Given the description of an element on the screen output the (x, y) to click on. 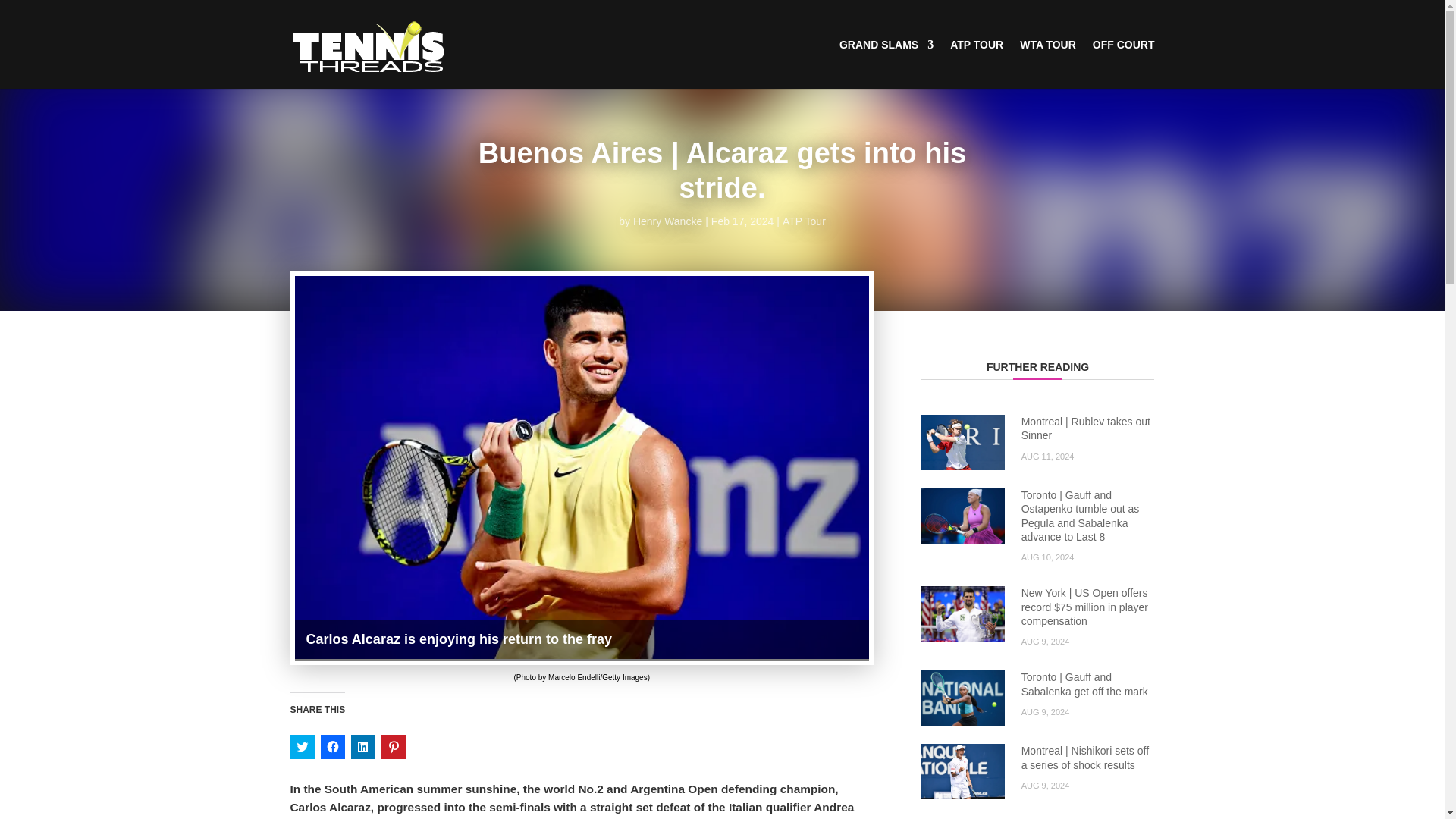
Click to share on Twitter (301, 746)
Click to share on LinkedIn (362, 746)
GRAND SLAMS (886, 64)
WTA TOUR (1047, 64)
OFF COURT (1123, 64)
Click to share on Pinterest (392, 746)
Posts by Henry Wancke (667, 221)
Click to share on Facebook (331, 746)
ATP Tour (804, 221)
Henry Wancke (667, 221)
